Given the description of an element on the screen output the (x, y) to click on. 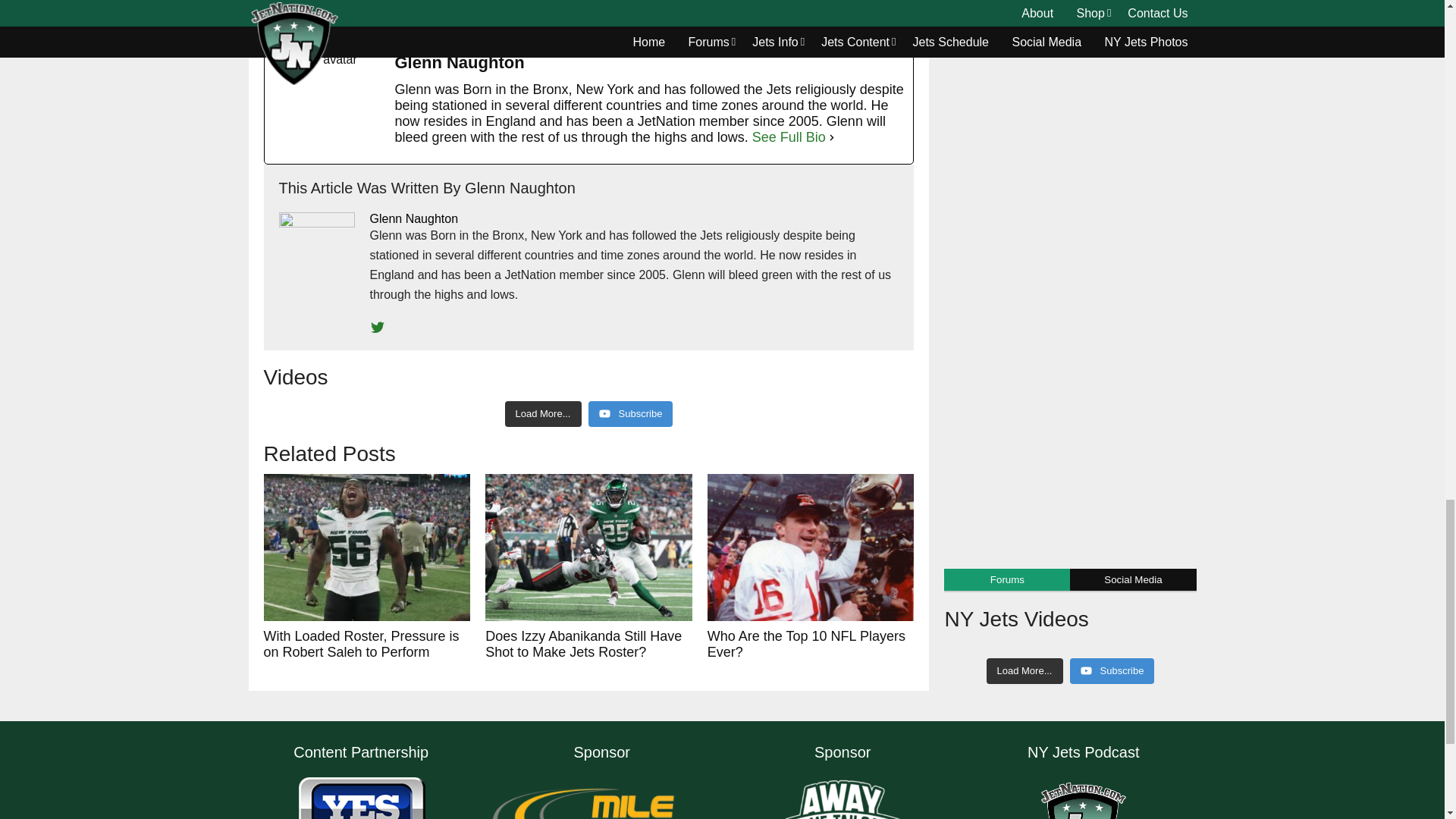
Does Izzy Abanikanda Still Have Shot to Make Jets Roster? (588, 547)
With Loaded Roster, Pressure is on Robert Saleh to Perform (366, 547)
Who Are the Top 10 NFL Players Ever? (810, 547)
